Given the description of an element on the screen output the (x, y) to click on. 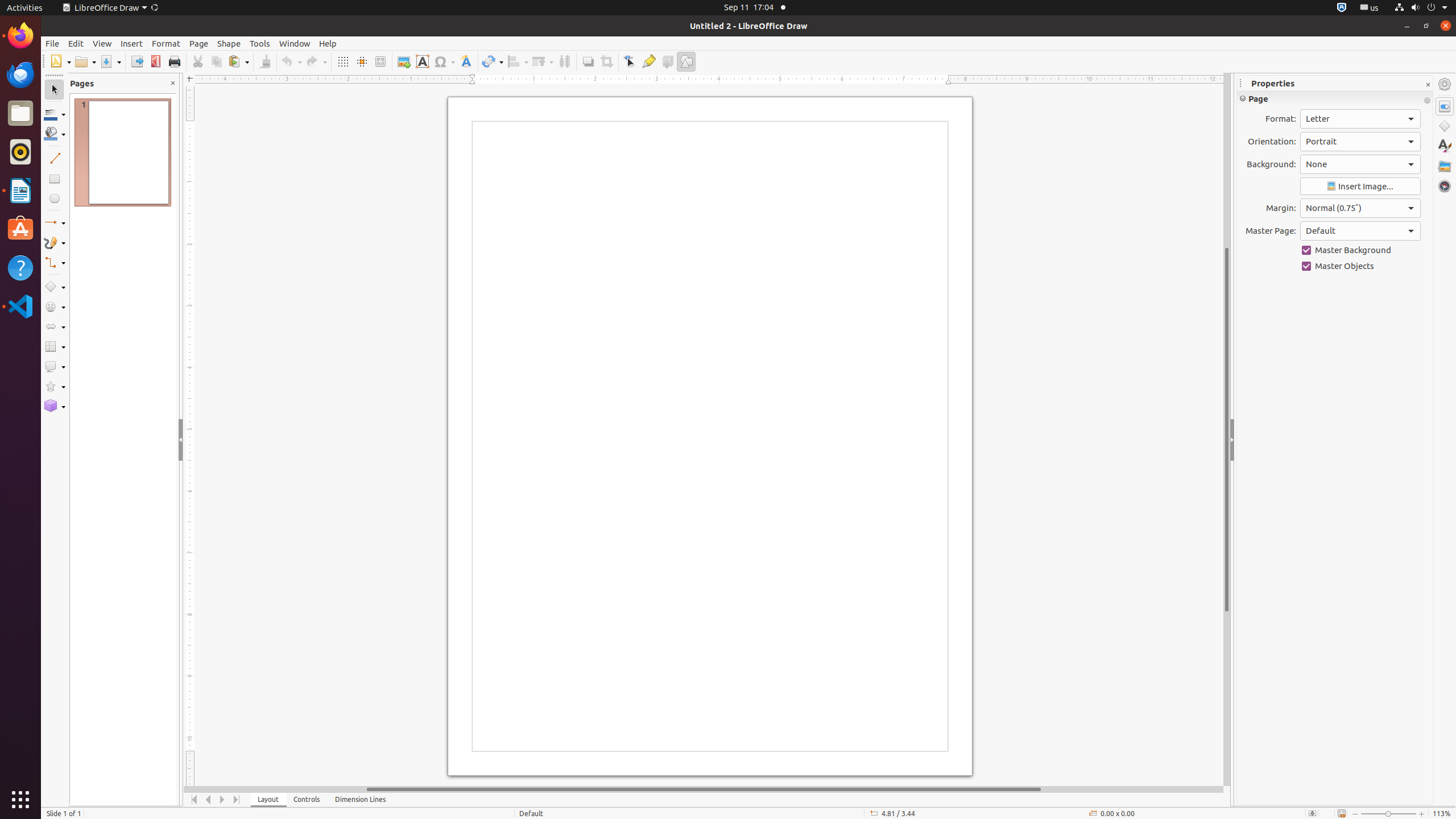
Gallery Element type: radio-button (1444, 165)
PageShape: Page 1 Element type: panel (734, 453)
Cut Element type: push-button (197, 61)
New Element type: push-button (59, 61)
Arrange Element type: push-button (542, 61)
